Given the description of an element on the screen output the (x, y) to click on. 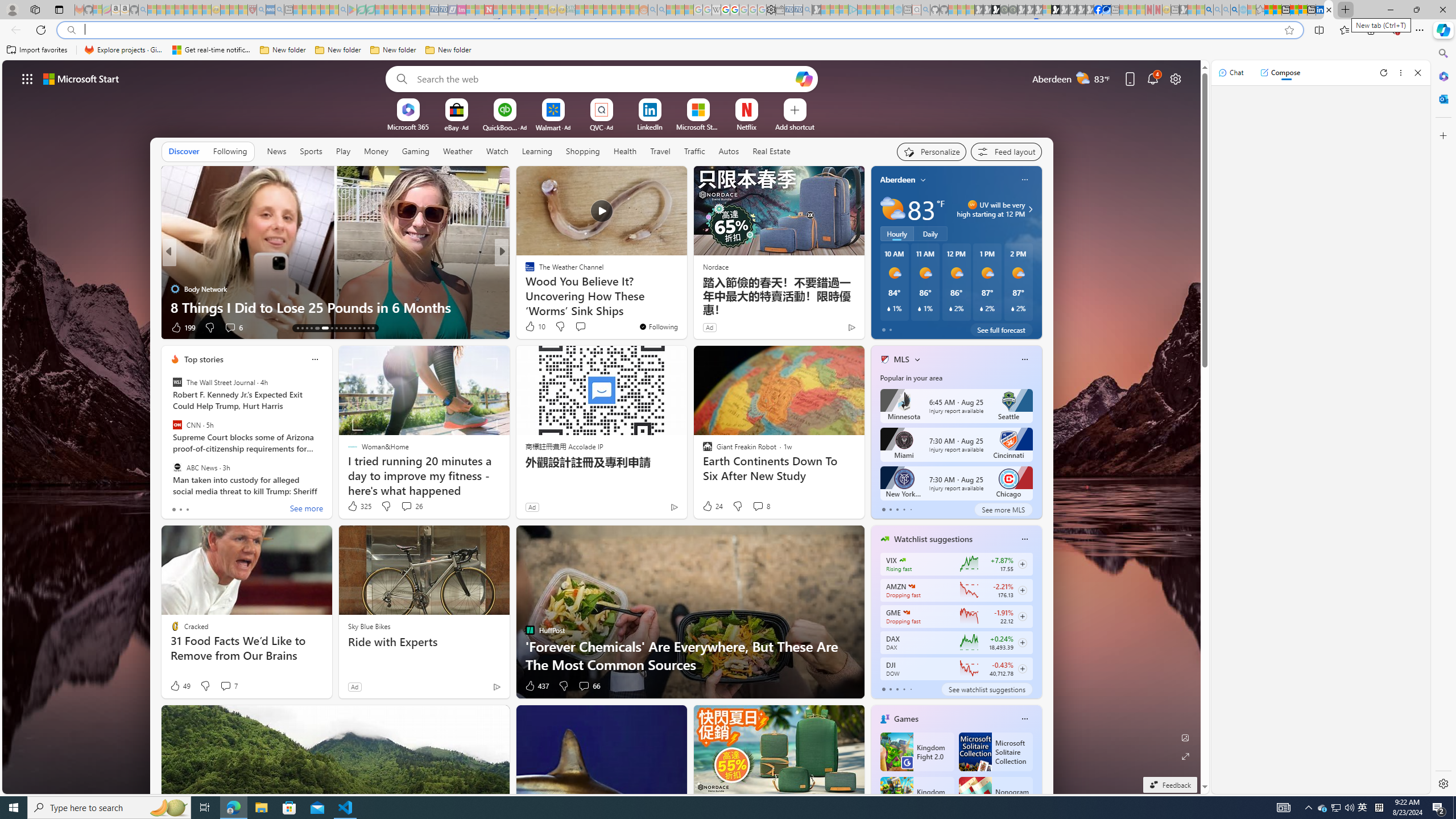
Favorites - Sleeping (1259, 9)
You're following The Weather Channel (657, 326)
CNN (176, 424)
View comments 6 Comment (580, 327)
Import favorites (36, 49)
Partly sunny (892, 208)
utah sues federal government - Search - Sleeping (279, 9)
What If (524, 288)
325 Like (358, 505)
